Given the description of an element on the screen output the (x, y) to click on. 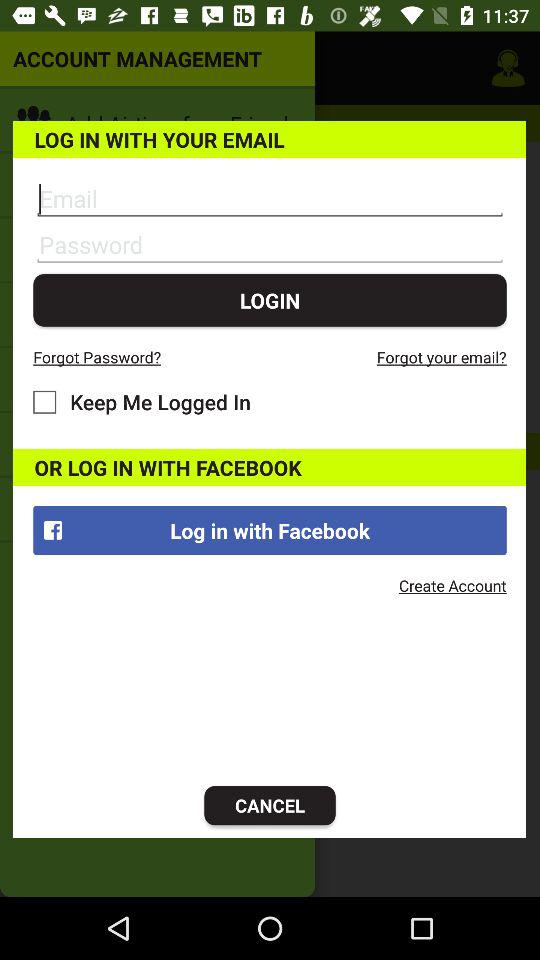
launch keep me logged item (141, 401)
